Given the description of an element on the screen output the (x, y) to click on. 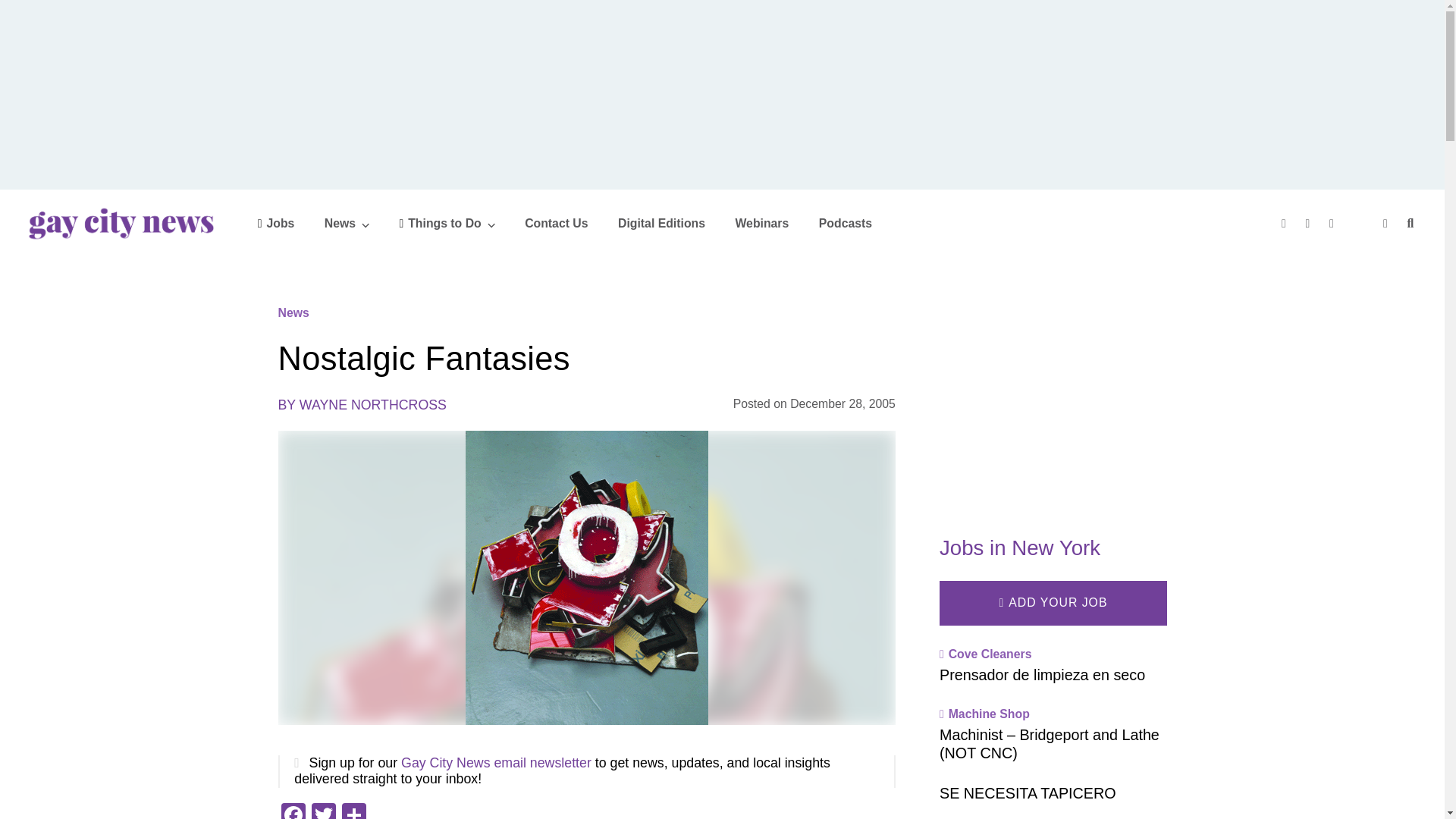
Facebook (292, 811)
Podcasts (845, 223)
Webinars (762, 223)
3rd party ad content (1052, 394)
Things to Do (446, 223)
Digital Editions (660, 223)
Contact Us (556, 223)
Twitter (322, 811)
News (346, 223)
Jobs (276, 223)
